Given the description of an element on the screen output the (x, y) to click on. 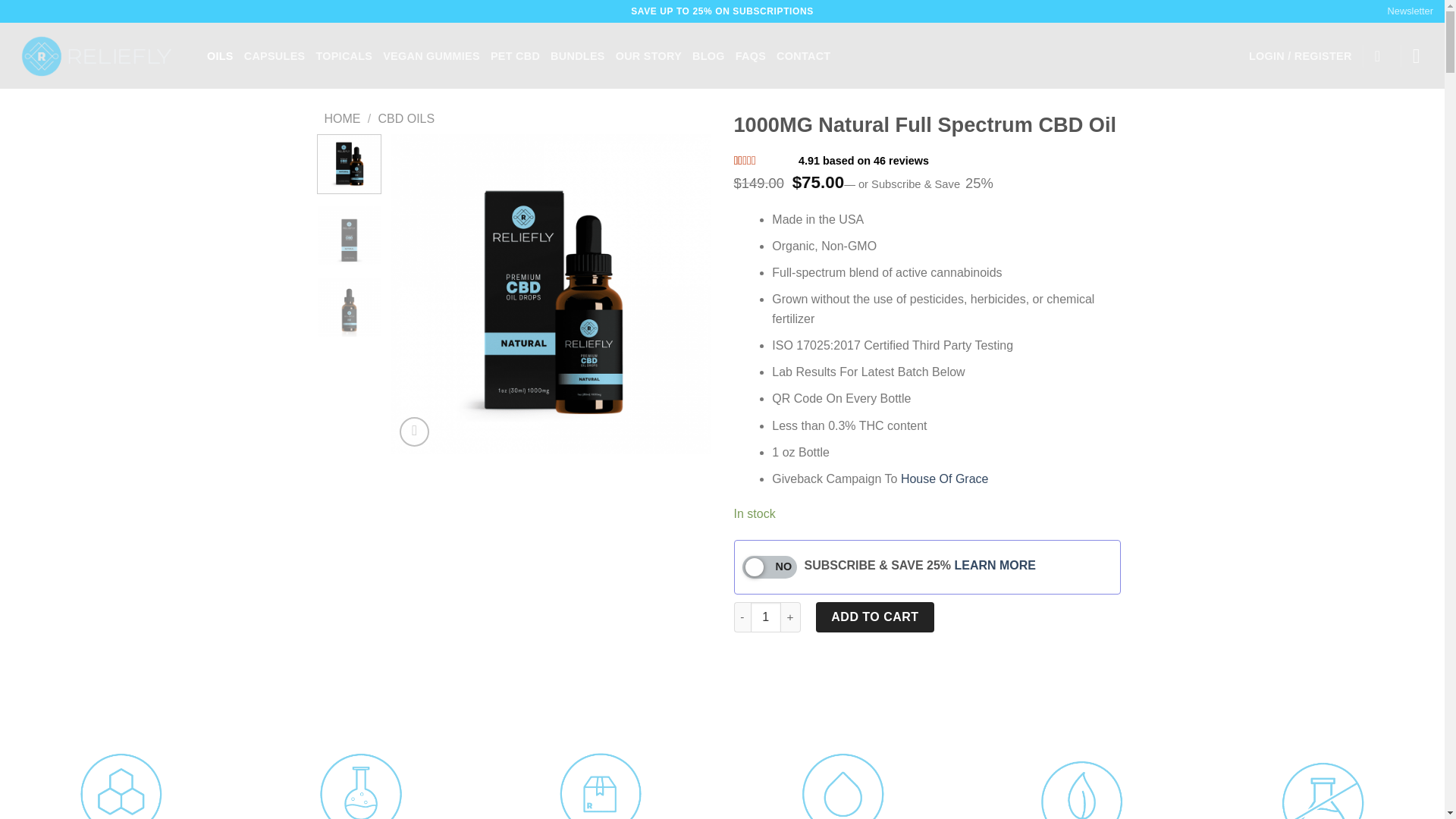
House Of Grace (944, 478)
Qty (765, 616)
BUNDLES (577, 55)
1 (765, 616)
HOME (342, 118)
PET CBD (515, 55)
CONTACT (802, 55)
FAQS (750, 55)
CAPSULES (274, 55)
Reliefly-CBD-Oil-Drops-1000mg-Bottle-Product-Photo (231, 294)
ADD TO CART (874, 616)
Reliefly - Premium CBD Premium Relief (97, 56)
CBD OILS (405, 118)
4.91 based on 46 reviews (862, 161)
BLOG (709, 55)
